Given the description of an element on the screen output the (x, y) to click on. 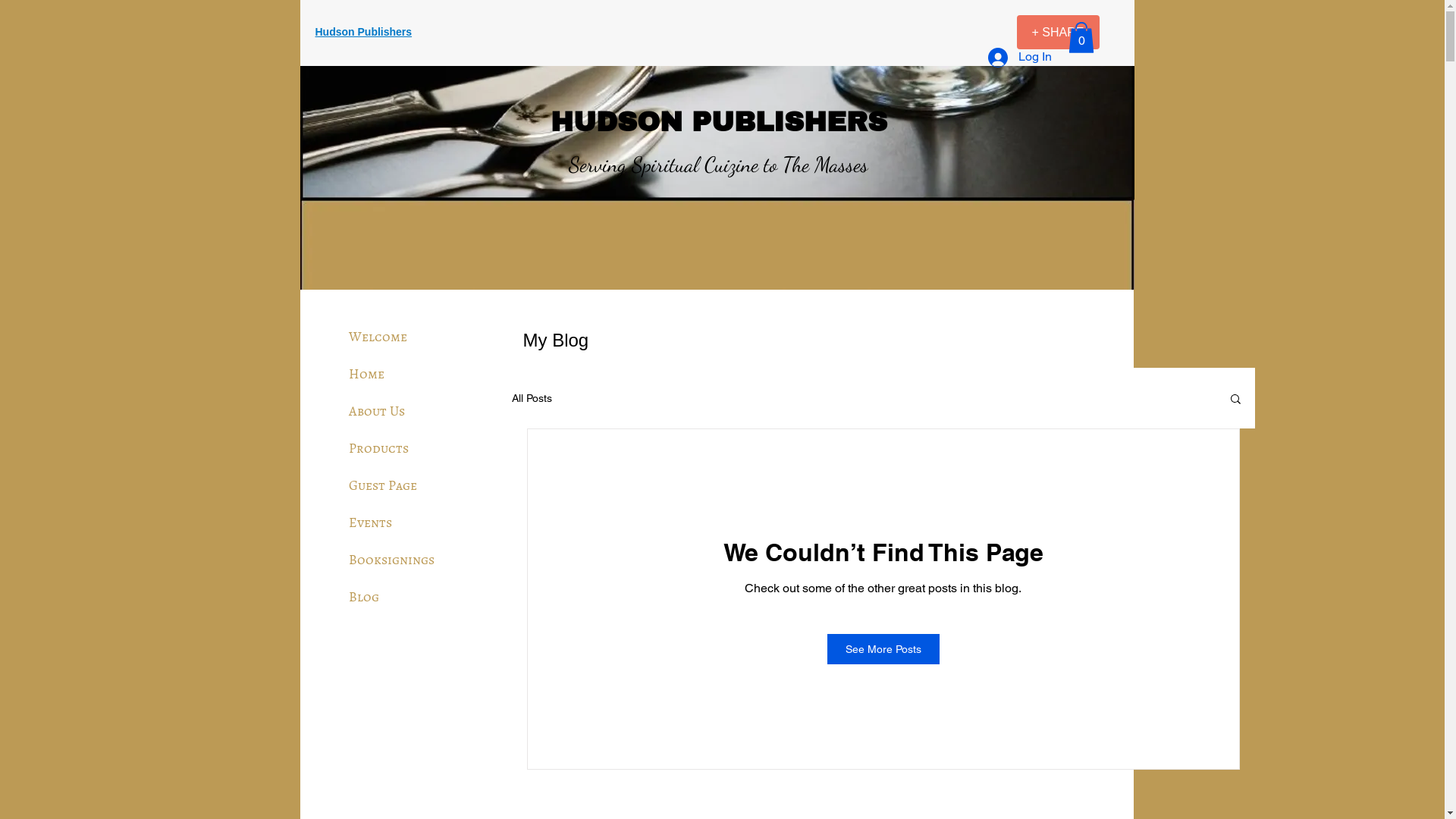
About Us Element type: text (376, 410)
All Posts Element type: text (531, 398)
Welcome Element type: text (377, 336)
Events Element type: text (370, 522)
Home Element type: text (366, 373)
0 Element type: text (1080, 37)
Log In Element type: text (1018, 57)
Booksignings Element type: text (391, 559)
Embedded Content Element type: hover (963, 37)
See More Posts Element type: text (882, 648)
+ SHARE Element type: text (1057, 32)
Guest Page Element type: text (382, 484)
Blog Element type: text (363, 596)
Embedded Content Element type: hover (901, 34)
Products Element type: text (378, 447)
Hudson Publishers Element type: text (363, 32)
